Given the description of an element on the screen output the (x, y) to click on. 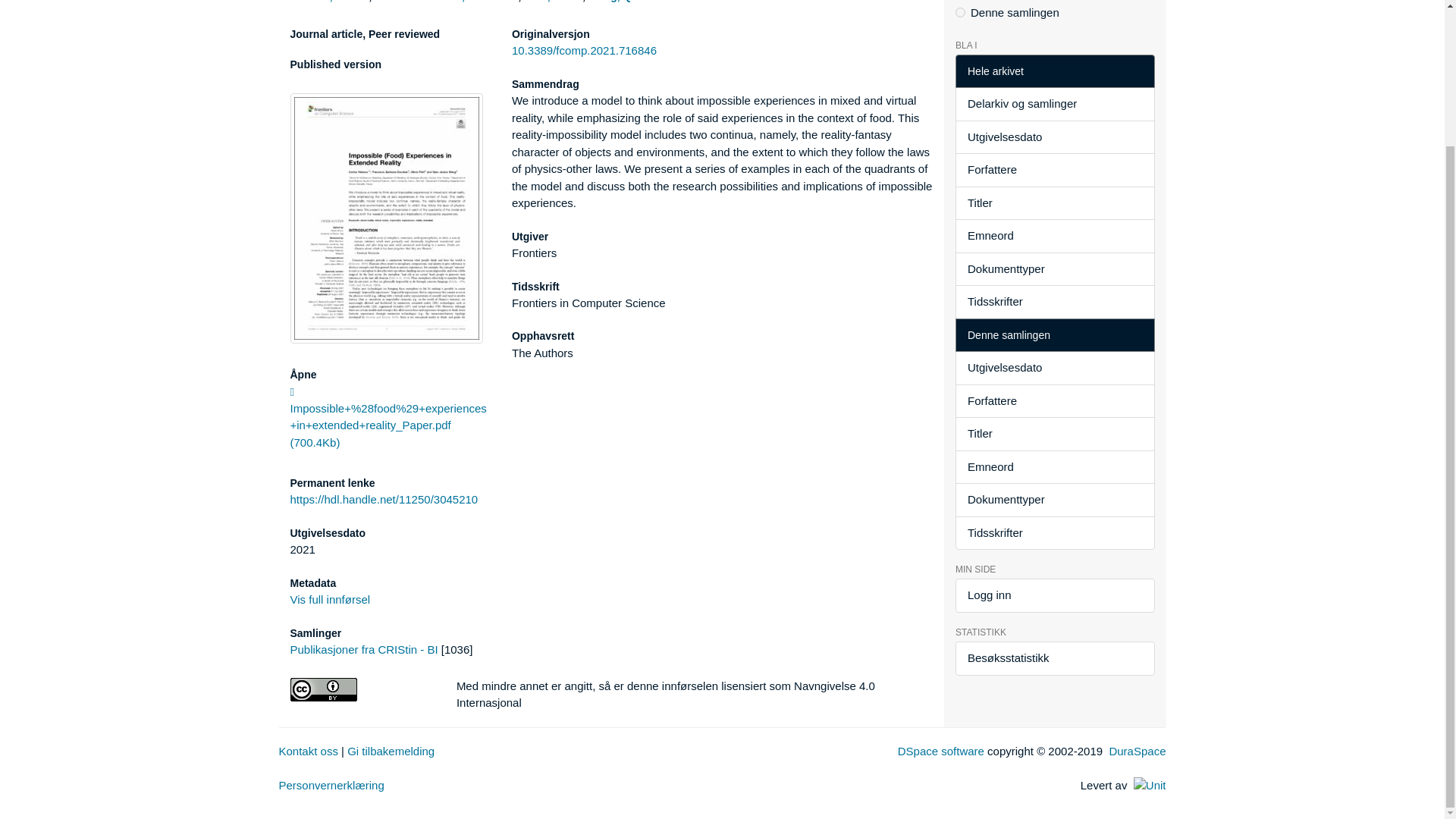
Utgivelsesdato (1054, 137)
Velasco, Carlos (328, 1)
Petit, Olivia (552, 1)
Publikasjoner fra CRIStin - BI (363, 649)
Wang, Qian Janice (635, 1)
Barbosa Escobar, Francisco (446, 1)
Unit (1150, 784)
Navngivelse 4.0 Internasjonal (360, 689)
Hele arkivet (1054, 71)
Delarkiv og samlinger (1054, 103)
